Given the description of an element on the screen output the (x, y) to click on. 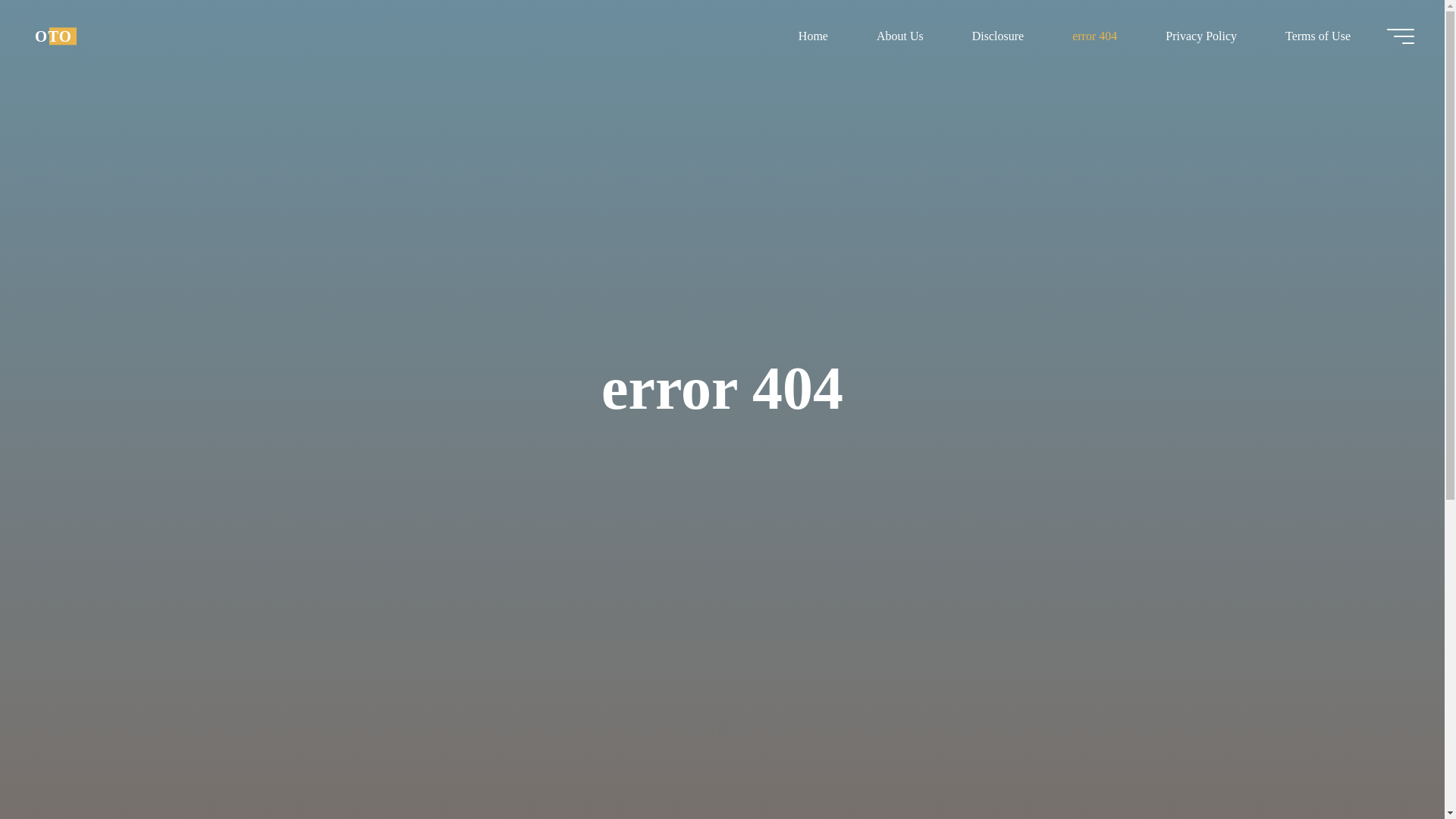
Read more (721, 724)
error 404 (1094, 35)
Disclosure (997, 35)
OTO (53, 36)
Terms of Use (1317, 35)
About Us (899, 35)
Privacy Policy (1200, 35)
Home (812, 35)
